Given the description of an element on the screen output the (x, y) to click on. 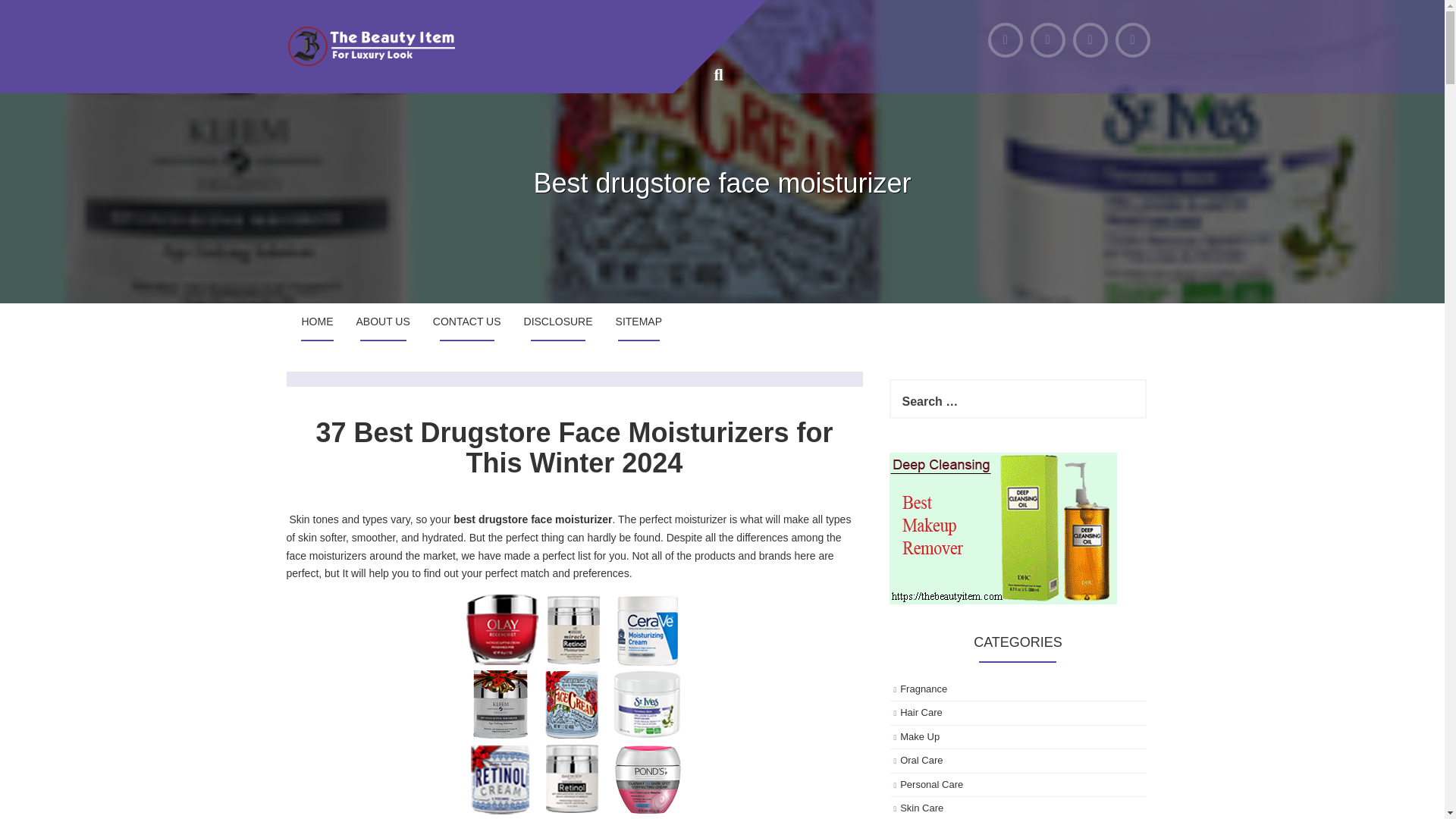
HOME (316, 322)
DISCLOSURE (558, 322)
CONTACT US (467, 322)
SITEMAP (638, 322)
ABOUT US (381, 322)
